Given the description of an element on the screen output the (x, y) to click on. 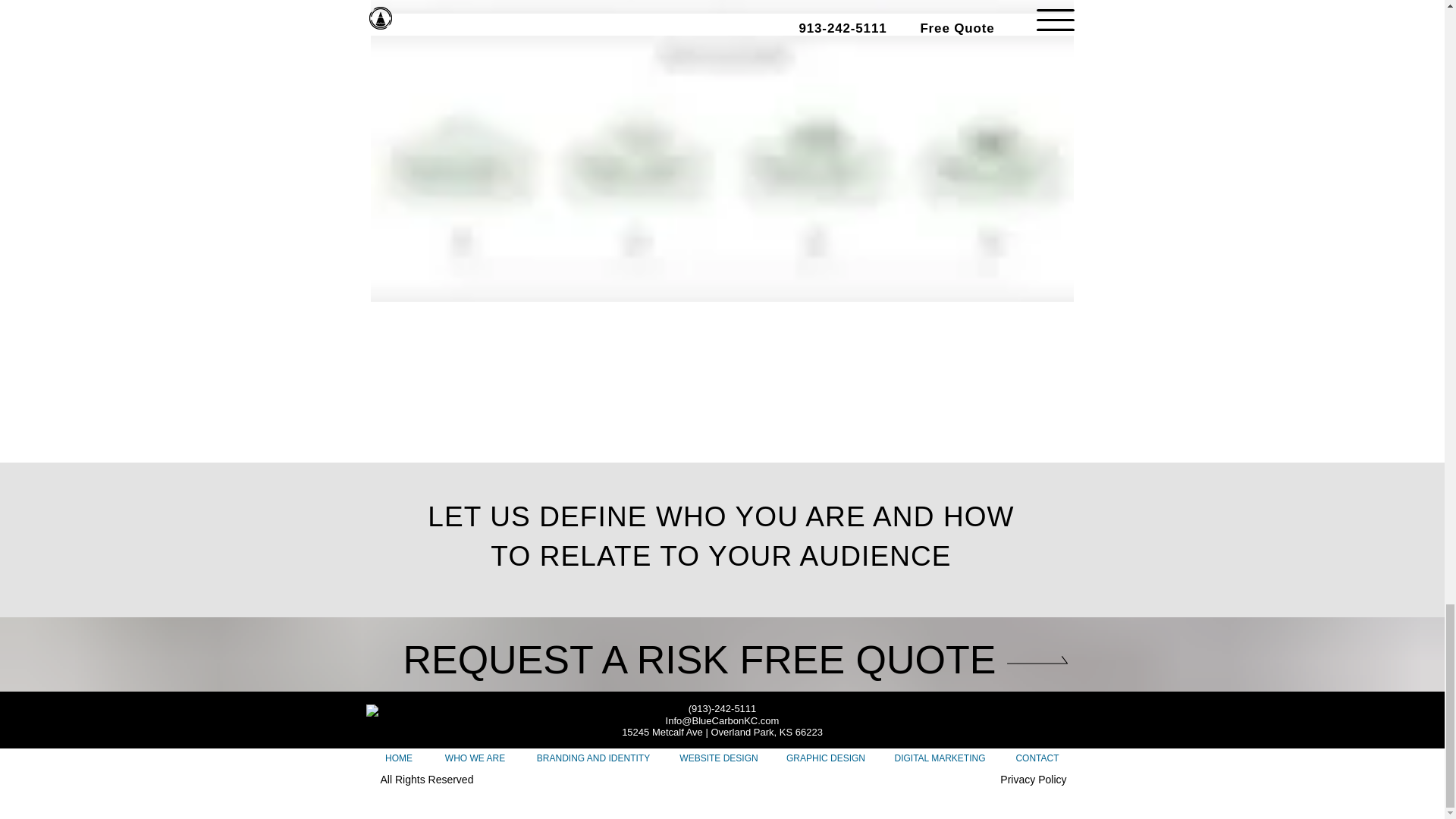
BRANDING AND IDENTITY (593, 758)
CONTACT (1037, 758)
DIGITAL MARKETING (940, 758)
REQUEST A RISK FREE QUOTE (724, 659)
Privacy Policy (1032, 779)
GRAPHIC DESIGN (825, 758)
New Trails-Pattern.jpg (721, 6)
WEBSITE DESIGN (719, 758)
WHO WE ARE (475, 758)
HOME (398, 758)
